Given the description of an element on the screen output the (x, y) to click on. 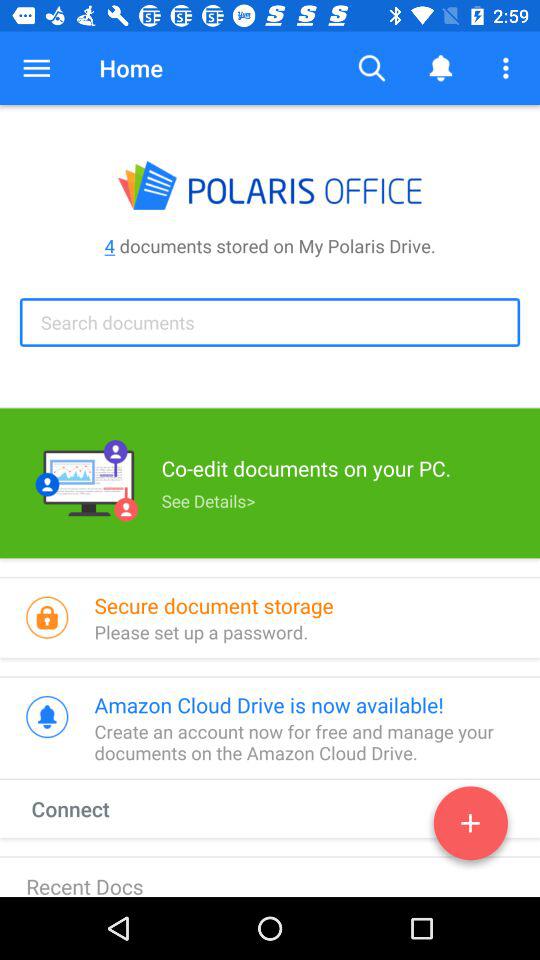
launch the connect (89, 808)
